Given the description of an element on the screen output the (x, y) to click on. 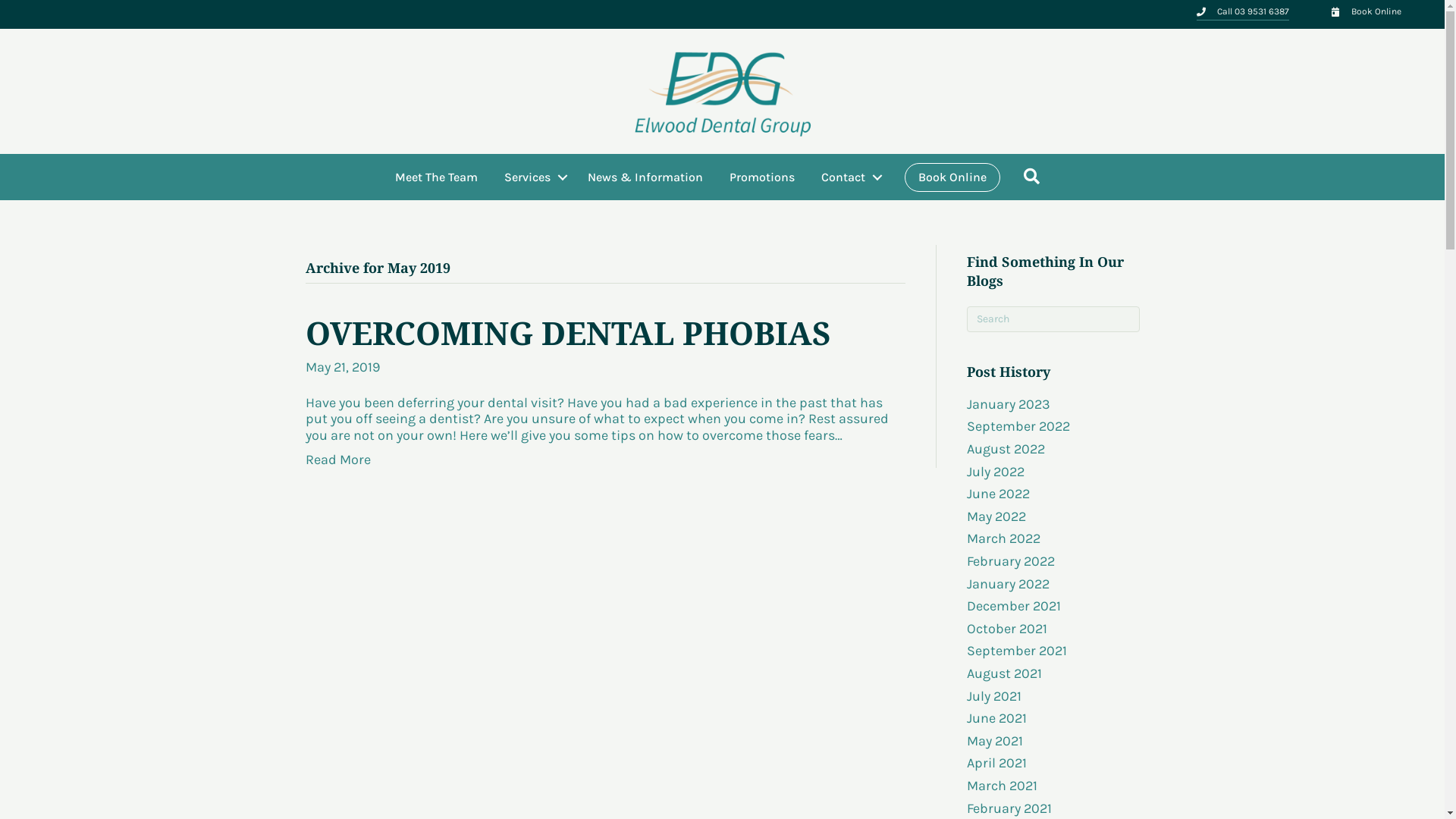
February 2022 Element type: text (1010, 560)
September 2022 Element type: text (1018, 425)
January 2022 Element type: text (1007, 583)
May 2022 Element type: text (996, 516)
Book Online Element type: text (952, 177)
Contact Element type: text (848, 177)
October 2021 Element type: text (1006, 628)
OVERCOMING DENTAL PHOBIAS Element type: text (567, 332)
April 2021 Element type: text (996, 762)
June 2021 Element type: text (996, 717)
June 2022 Element type: text (997, 493)
Services Element type: text (532, 177)
Call 03 9531 6387 Element type: text (1253, 11)
July 2021 Element type: text (993, 695)
Meet The Team Element type: text (436, 177)
March 2022 Element type: text (1003, 538)
January 2023 Element type: text (1008, 403)
February 2021 Element type: text (1008, 808)
August 2022 Element type: text (1005, 448)
Read More Element type: text (337, 459)
Book Online Element type: text (1376, 11)
Promotions Element type: text (761, 177)
July 2022 Element type: text (995, 471)
News & Information Element type: text (644, 177)
March 2021 Element type: text (1001, 785)
December 2021 Element type: text (1013, 605)
Type and press Enter to search. Element type: hover (1052, 319)
September 2021 Element type: text (1016, 650)
May 2021 Element type: text (994, 740)
August 2021 Element type: text (1003, 673)
Elwood Dental Group Logo Element type: hover (722, 91)
